Given the description of an element on the screen output the (x, y) to click on. 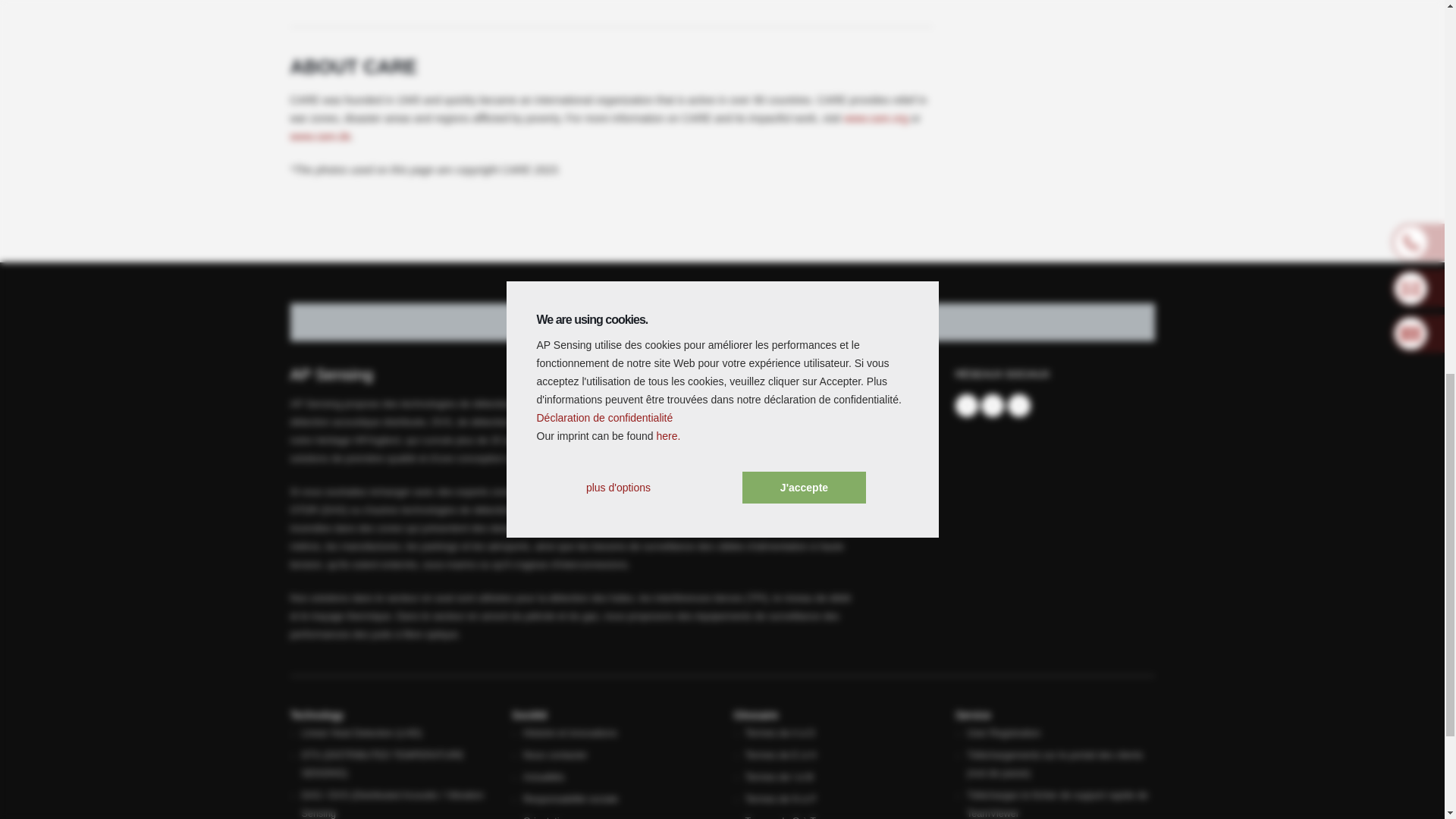
Linked In (992, 404)
Facebook (966, 404)
